Given the description of an element on the screen output the (x, y) to click on. 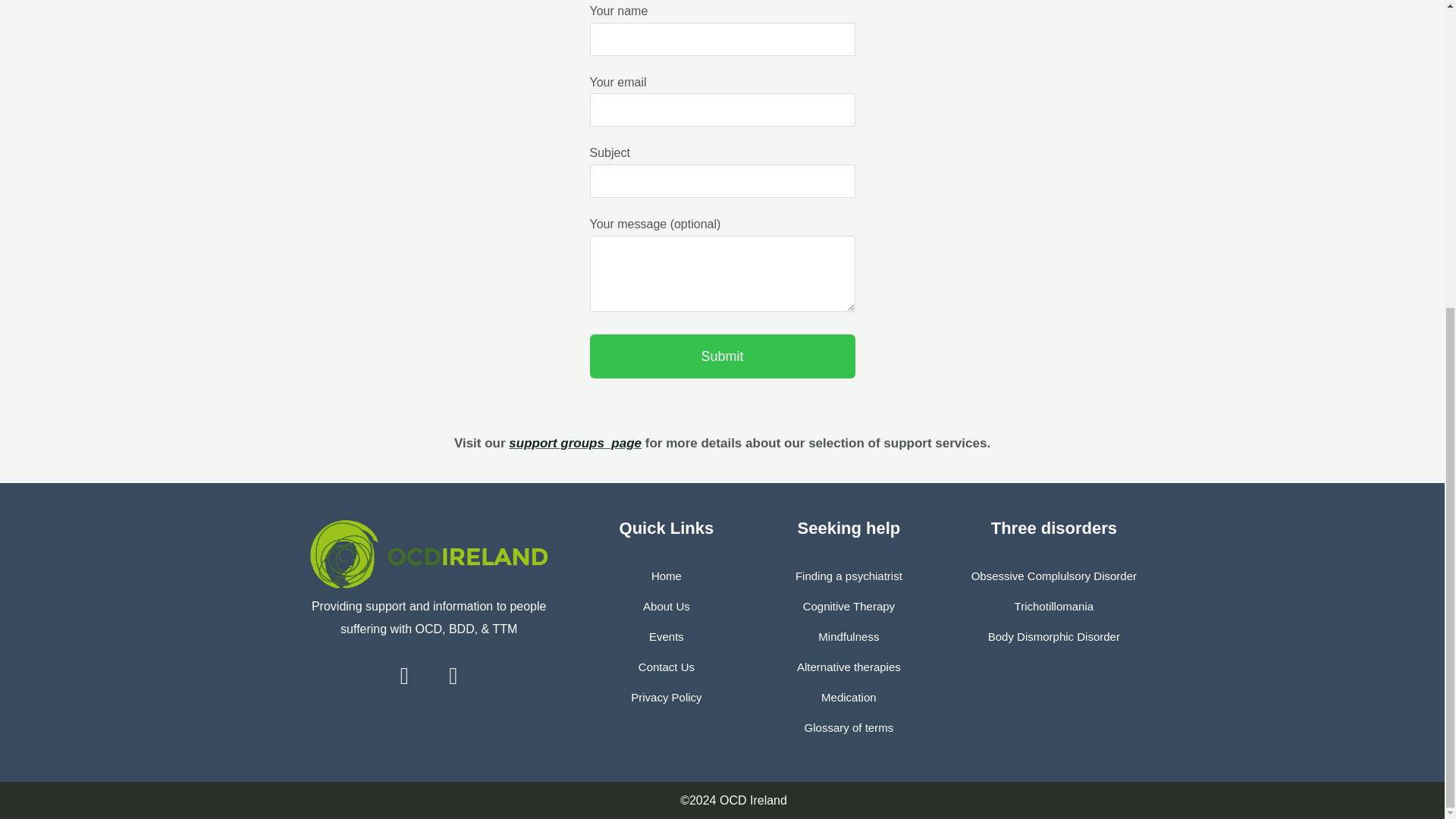
Contact Us (666, 666)
Submit (722, 356)
Alternative therapies (848, 666)
Cognitive Therapy (849, 606)
About Us (666, 606)
Submit (722, 356)
Home (665, 576)
Glossary of terms (849, 727)
Trichotillomania (1053, 606)
Privacy Policy (665, 697)
